Given the description of an element on the screen output the (x, y) to click on. 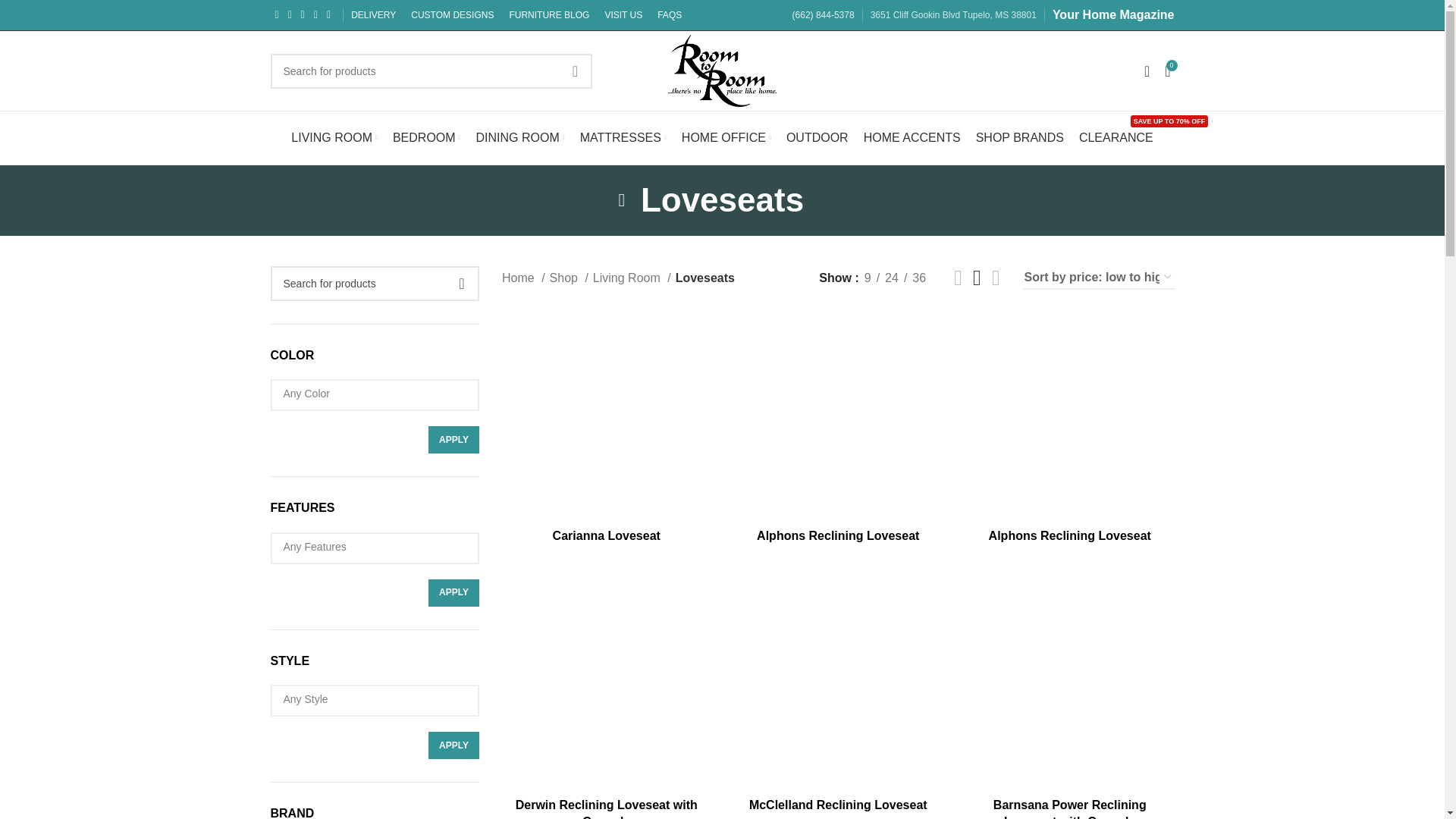
CUSTOM DESIGNS (451, 15)
Your Home Magazine (1113, 14)
Search for products (430, 70)
BEDROOM (427, 137)
VISIT US (623, 15)
SEARCH (574, 70)
FURNITURE BLOG (548, 15)
Carianna Loveseat Loveseats Ashley Furniture 2 (606, 416)
LIVING ROOM (334, 137)
